Given the description of an element on the screen output the (x, y) to click on. 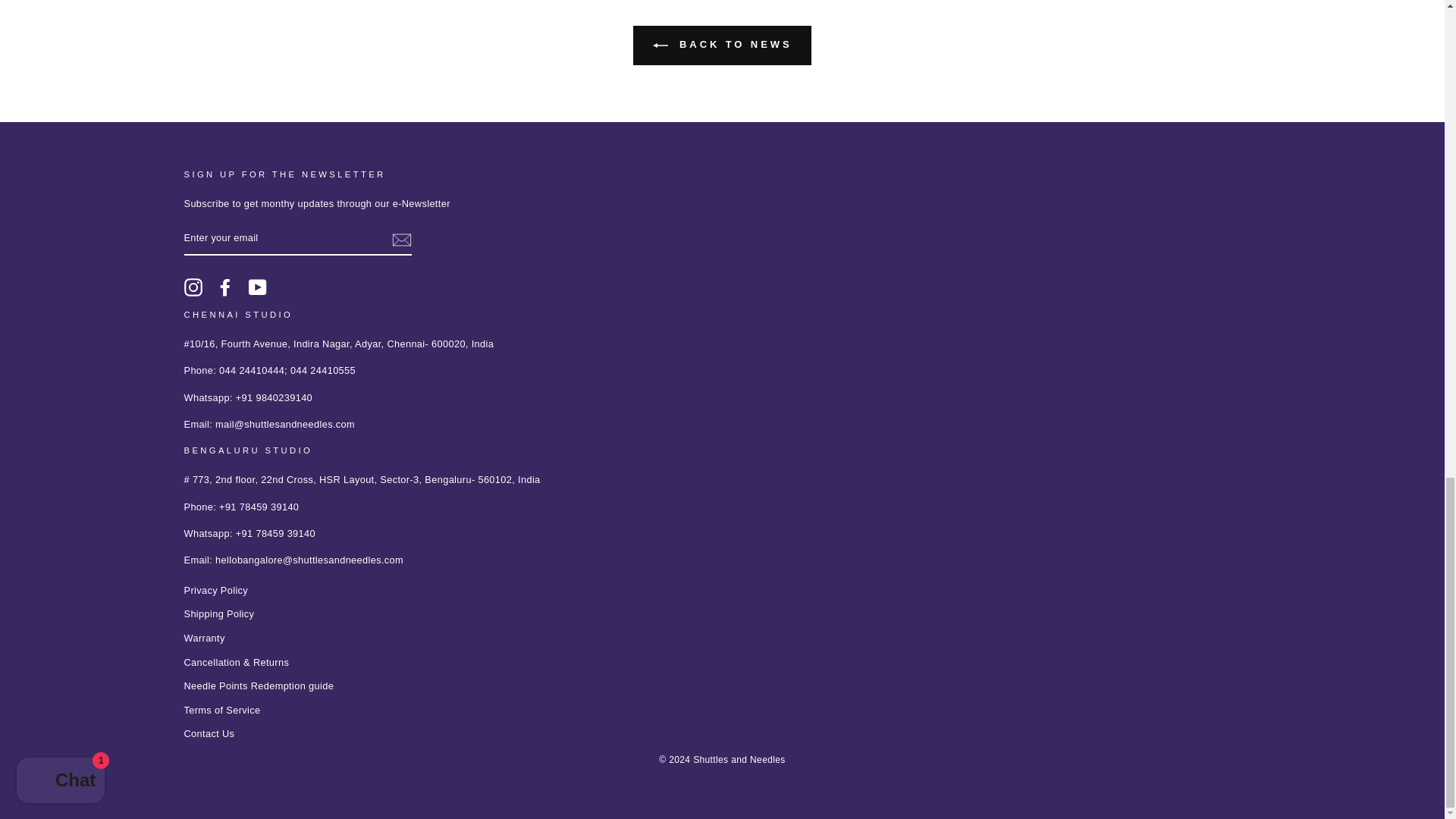
 Shuttles and Needles on Instagram (192, 287)
 Shuttles and Needles on YouTube (257, 287)
 Shuttles and Needles on Facebook (224, 287)
